Given the description of an element on the screen output the (x, y) to click on. 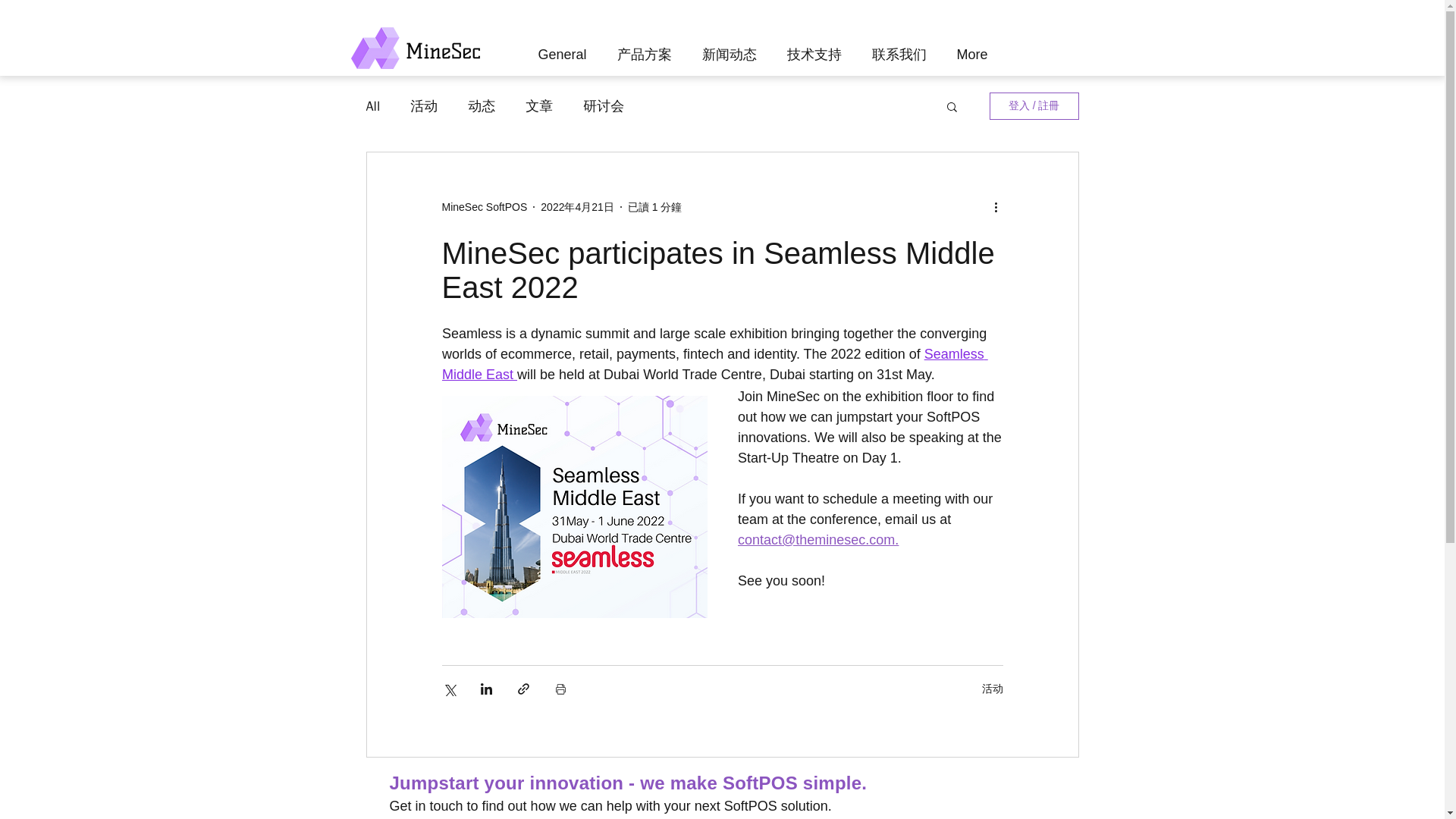
MineSec SoftPOS (484, 206)
General (564, 47)
Seamless Middle East  (714, 364)
